Given the description of an element on the screen output the (x, y) to click on. 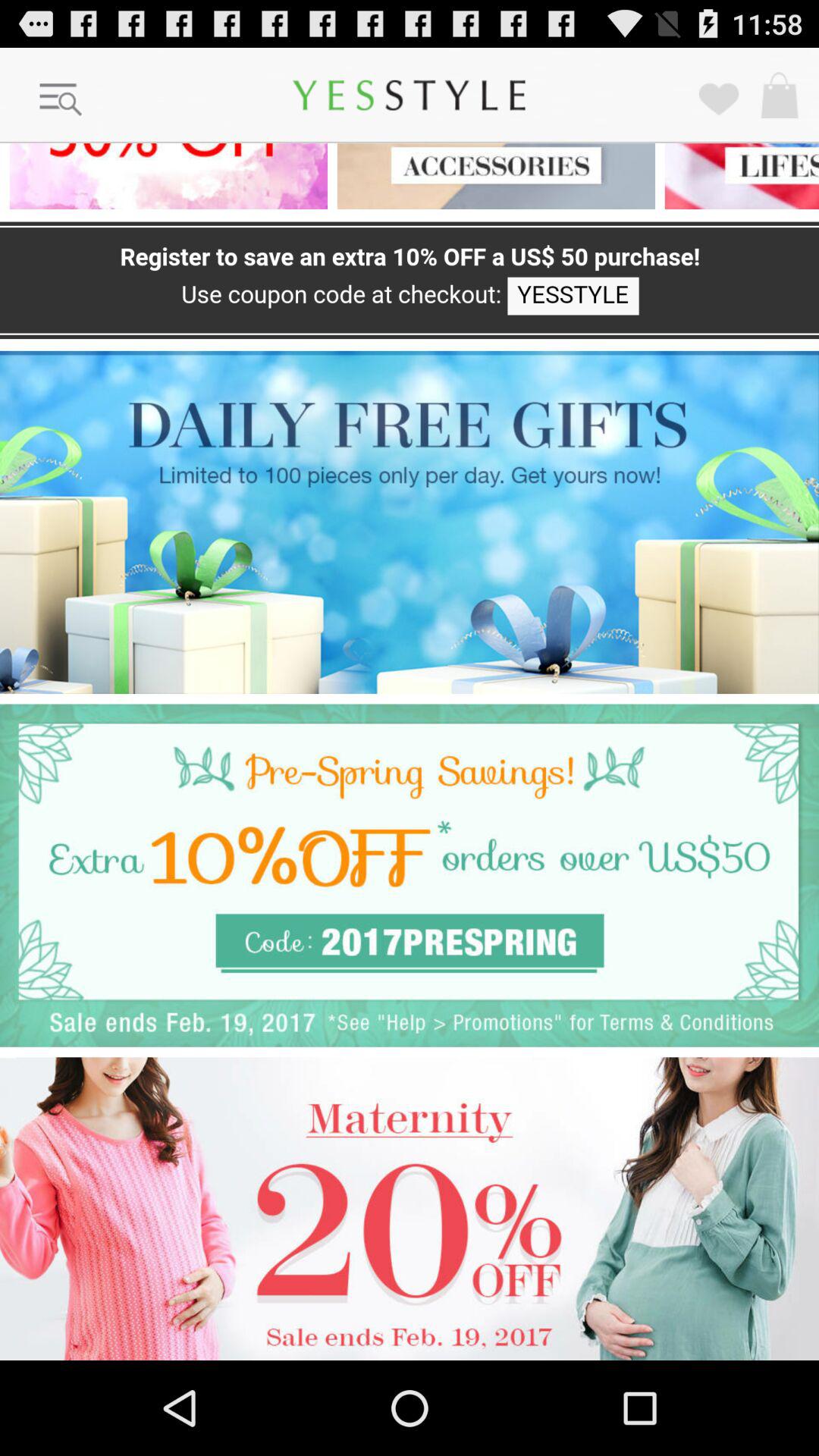
click for free gifts (409, 521)
